Given the description of an element on the screen output the (x, y) to click on. 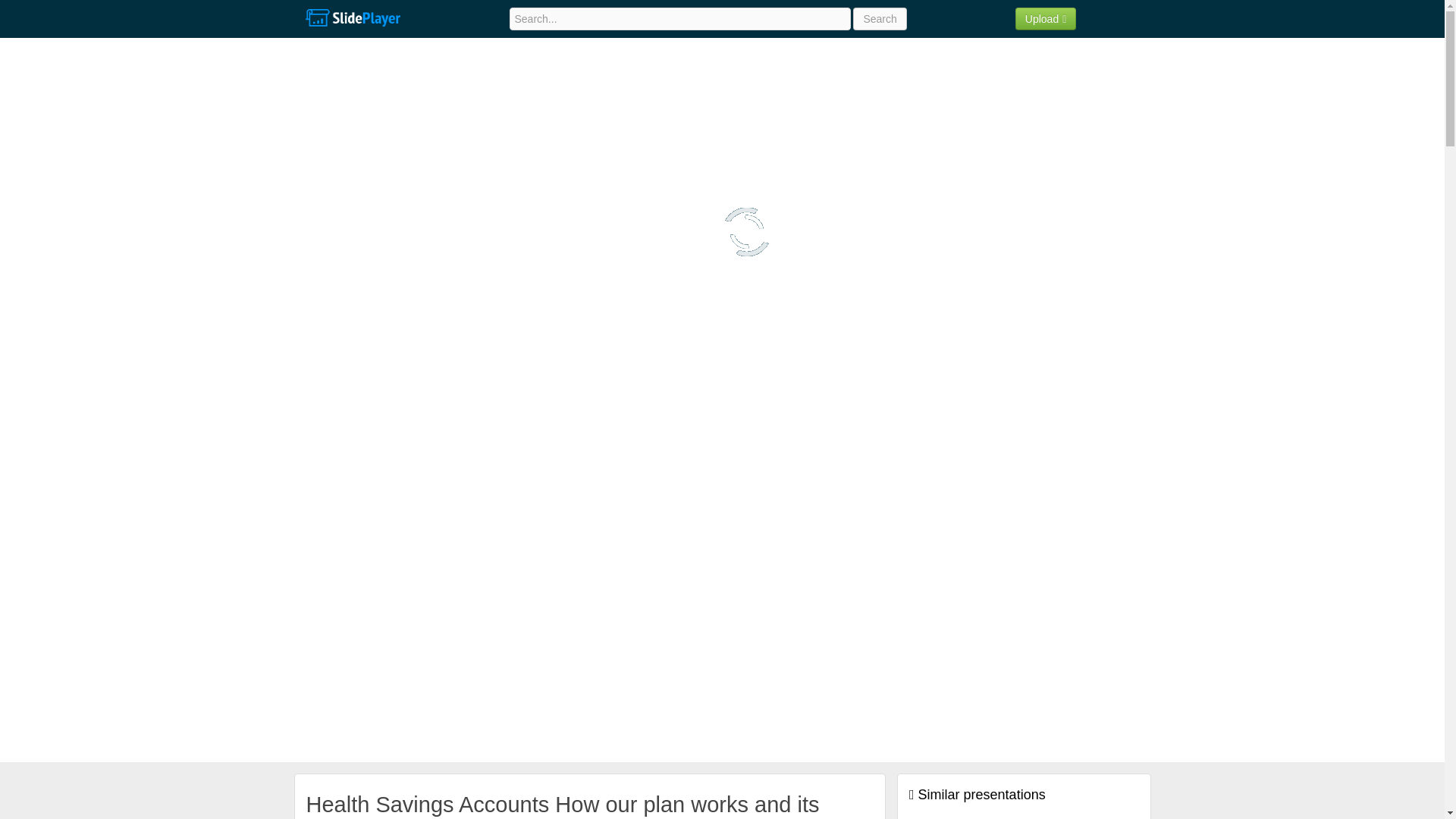
SlidePlayer (352, 18)
Presentation is loading. Please wait. (746, 232)
Search (879, 18)
Upload (1045, 18)
